Given the description of an element on the screen output the (x, y) to click on. 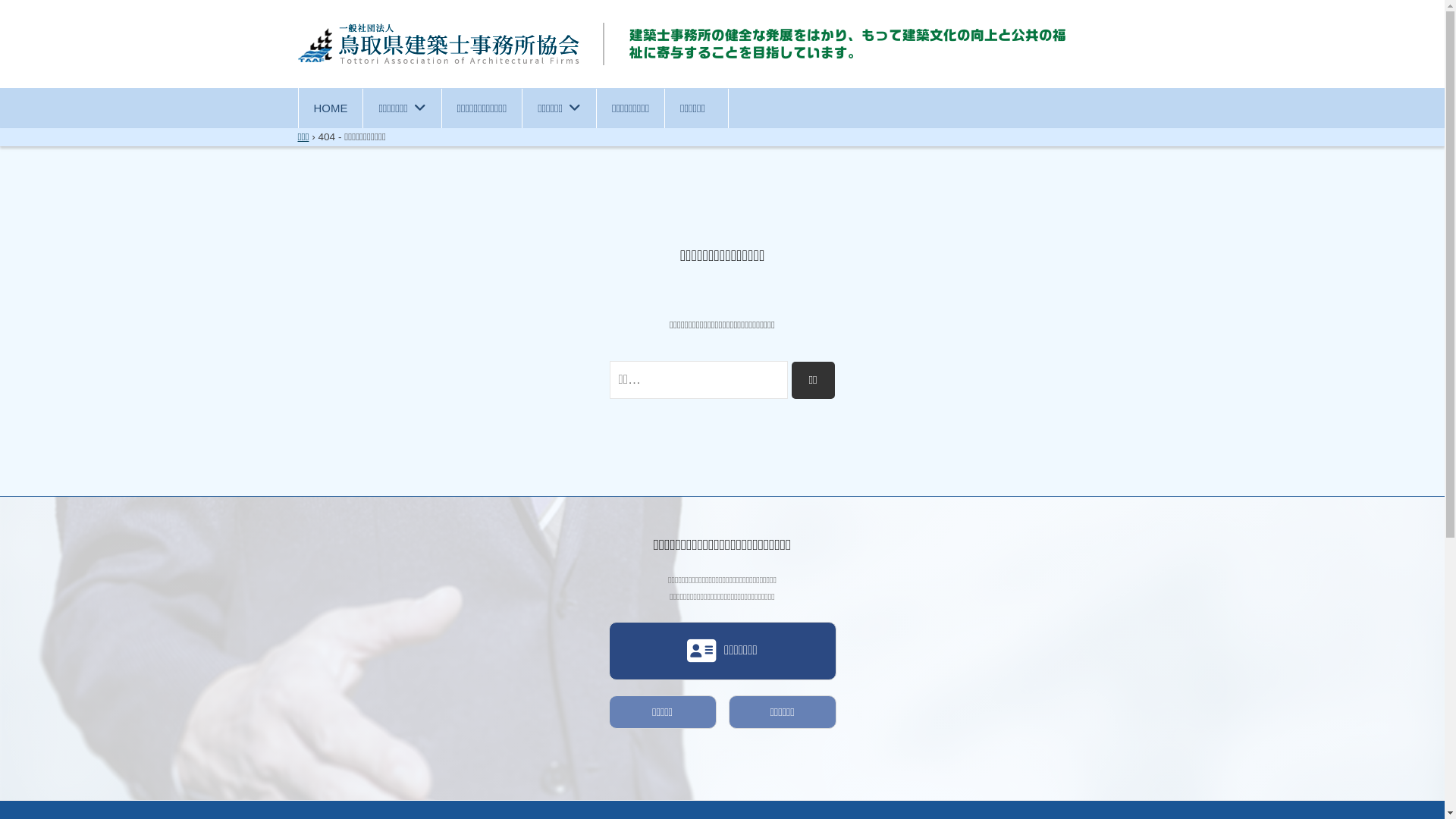
HOME Element type: text (330, 108)
